Given the description of an element on the screen output the (x, y) to click on. 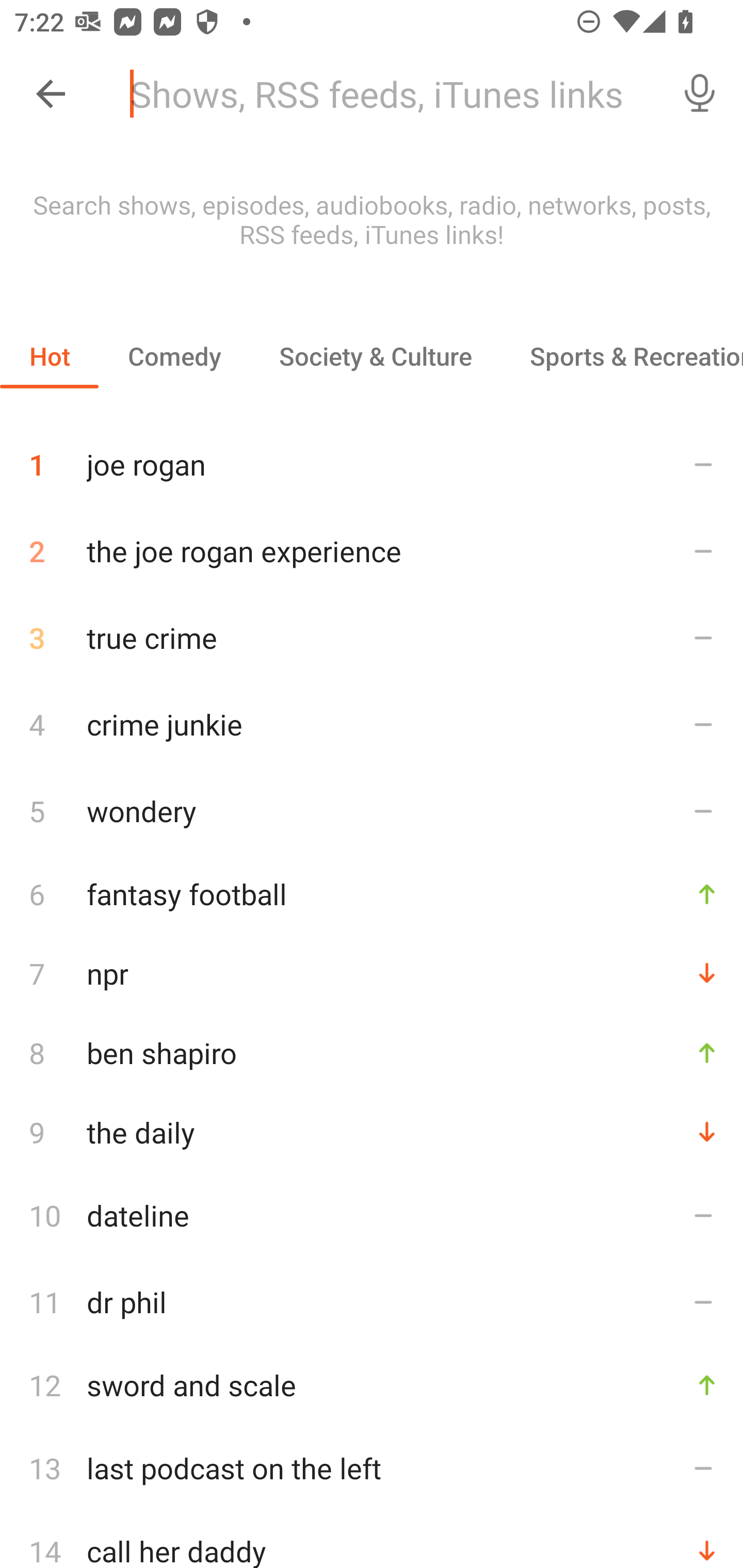
Collapse (50, 93)
Voice Search (699, 93)
Shows, RSS feeds, iTunes links (385, 94)
Hot (49, 355)
Comedy (173, 355)
Society & Culture (374, 355)
Sports & Recreation (621, 355)
1 joe rogan (371, 457)
2 the joe rogan experience (371, 551)
3 true crime (371, 637)
4 crime junkie (371, 723)
5 wondery (371, 810)
6 fantasy football (371, 893)
7 npr (371, 972)
8 ben shapiro (371, 1052)
9 the daily (371, 1131)
10 dateline (371, 1215)
11 dr phil (371, 1302)
12 sword and scale (371, 1385)
13 last podcast on the left (371, 1468)
14 call her daddy (371, 1539)
